Given the description of an element on the screen output the (x, y) to click on. 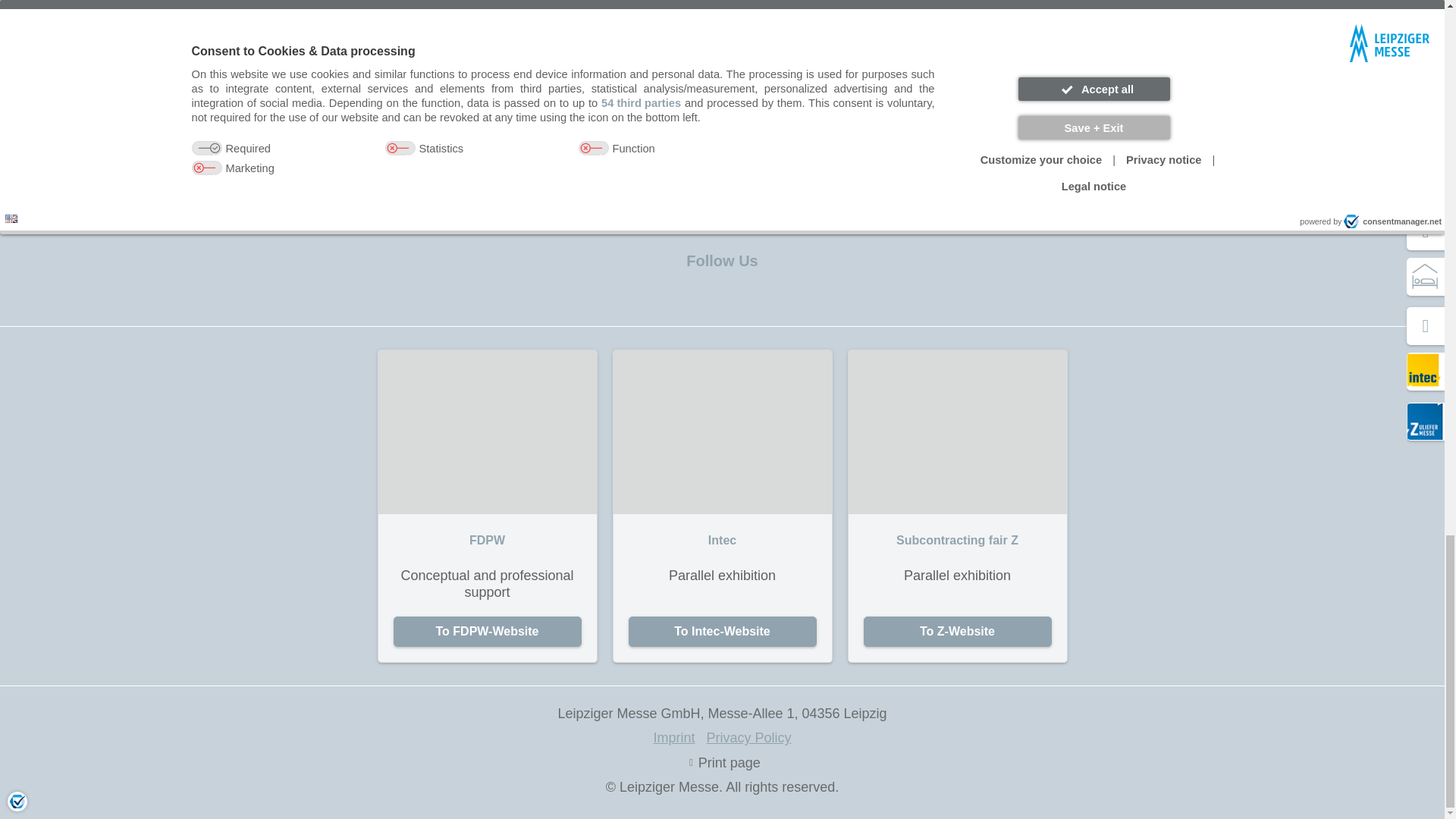
App (775, 190)
App (662, 190)
